Given the description of an element on the screen output the (x, y) to click on. 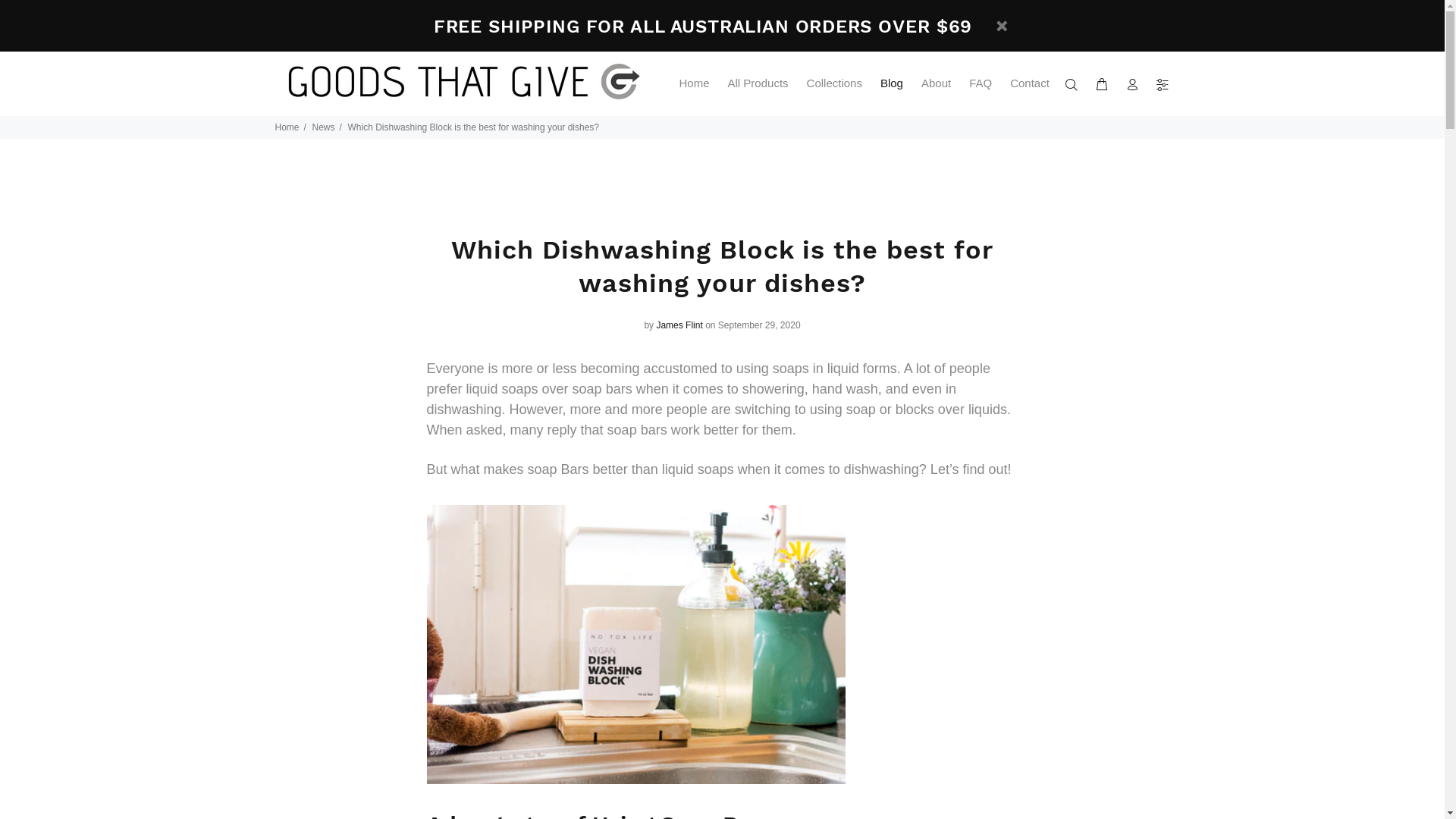
Home Element type: text (694, 83)
Blog Element type: text (891, 83)
Collections Element type: text (834, 83)
News Element type: text (323, 127)
Contact Element type: text (1025, 83)
Home Element type: text (286, 127)
About Element type: text (936, 83)
All Products Element type: text (757, 83)
FAQ Element type: text (980, 83)
